Given the description of an element on the screen output the (x, y) to click on. 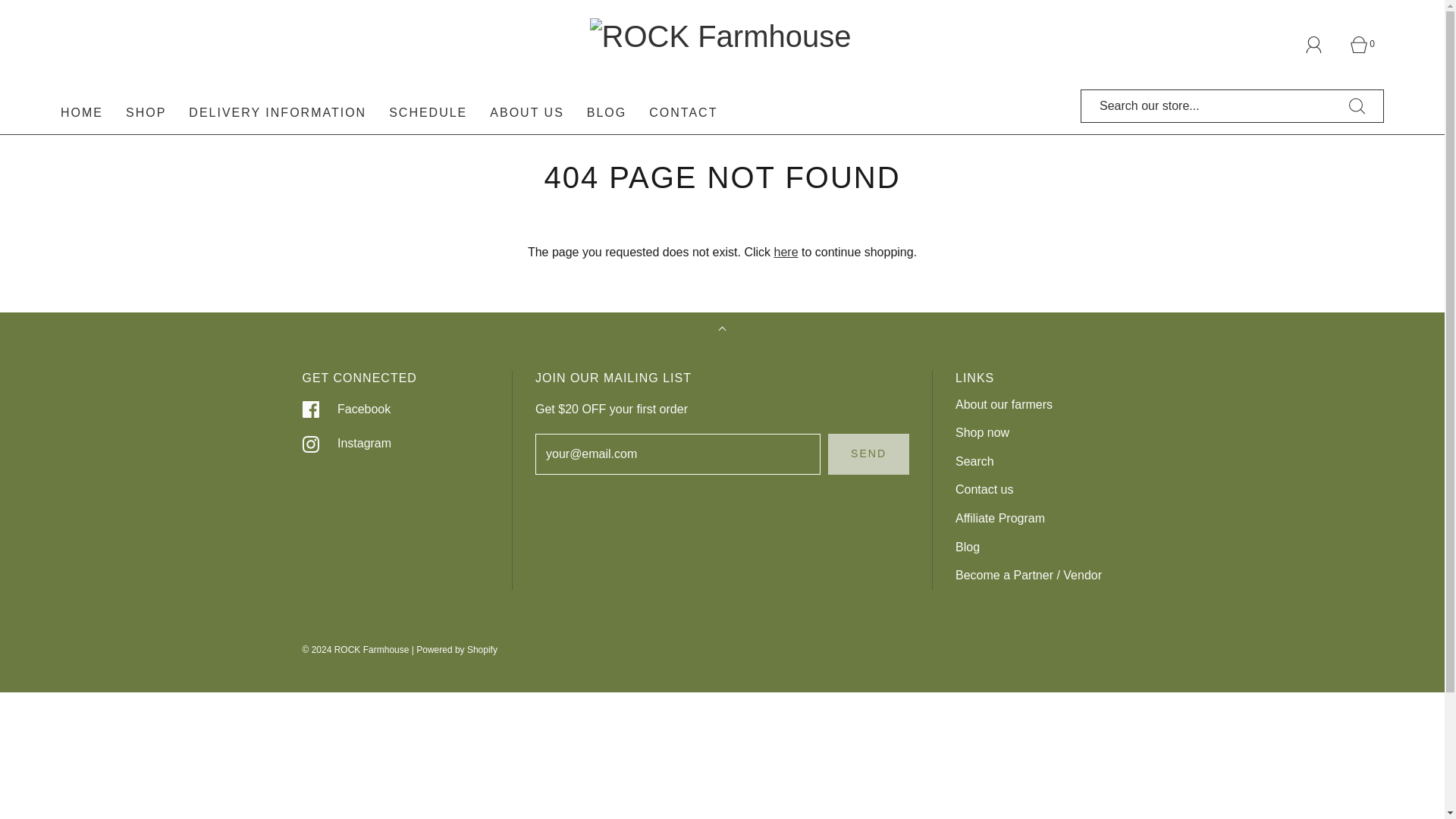
Log in (1322, 44)
Facebook icon (309, 409)
Cart (1367, 44)
Instagram icon (309, 443)
HOME (82, 112)
0 (1367, 44)
SHOP (145, 112)
